Given the description of an element on the screen output the (x, y) to click on. 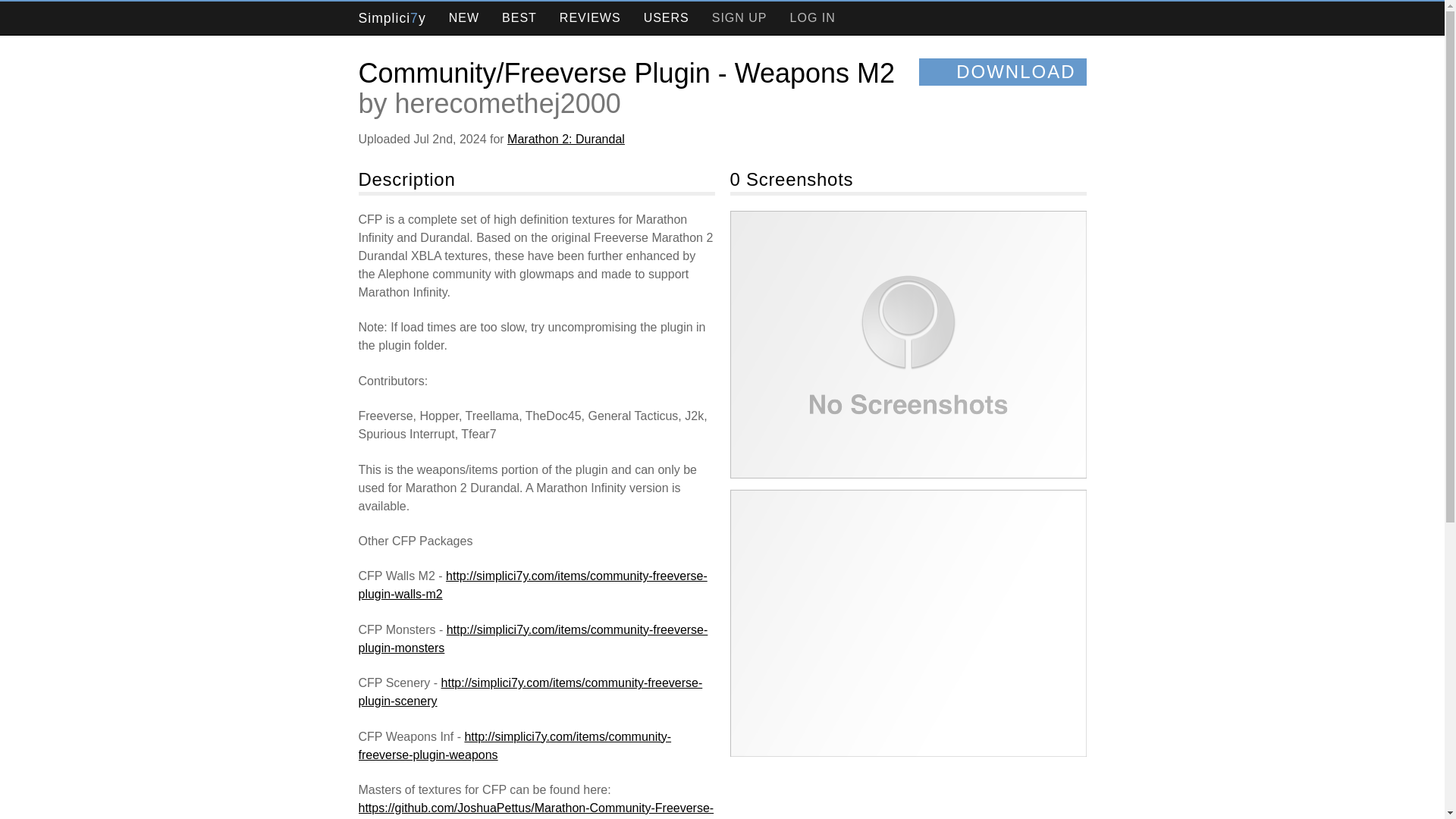
SIGN UP (739, 17)
NEW (463, 17)
LOG IN (813, 17)
DOWNLOAD (1002, 71)
herecomethej2000 (507, 102)
Simplici7y (391, 17)
BEST (519, 17)
REVIEWS (589, 17)
USERS (666, 17)
Marathon 2: Durandal (565, 138)
